Given the description of an element on the screen output the (x, y) to click on. 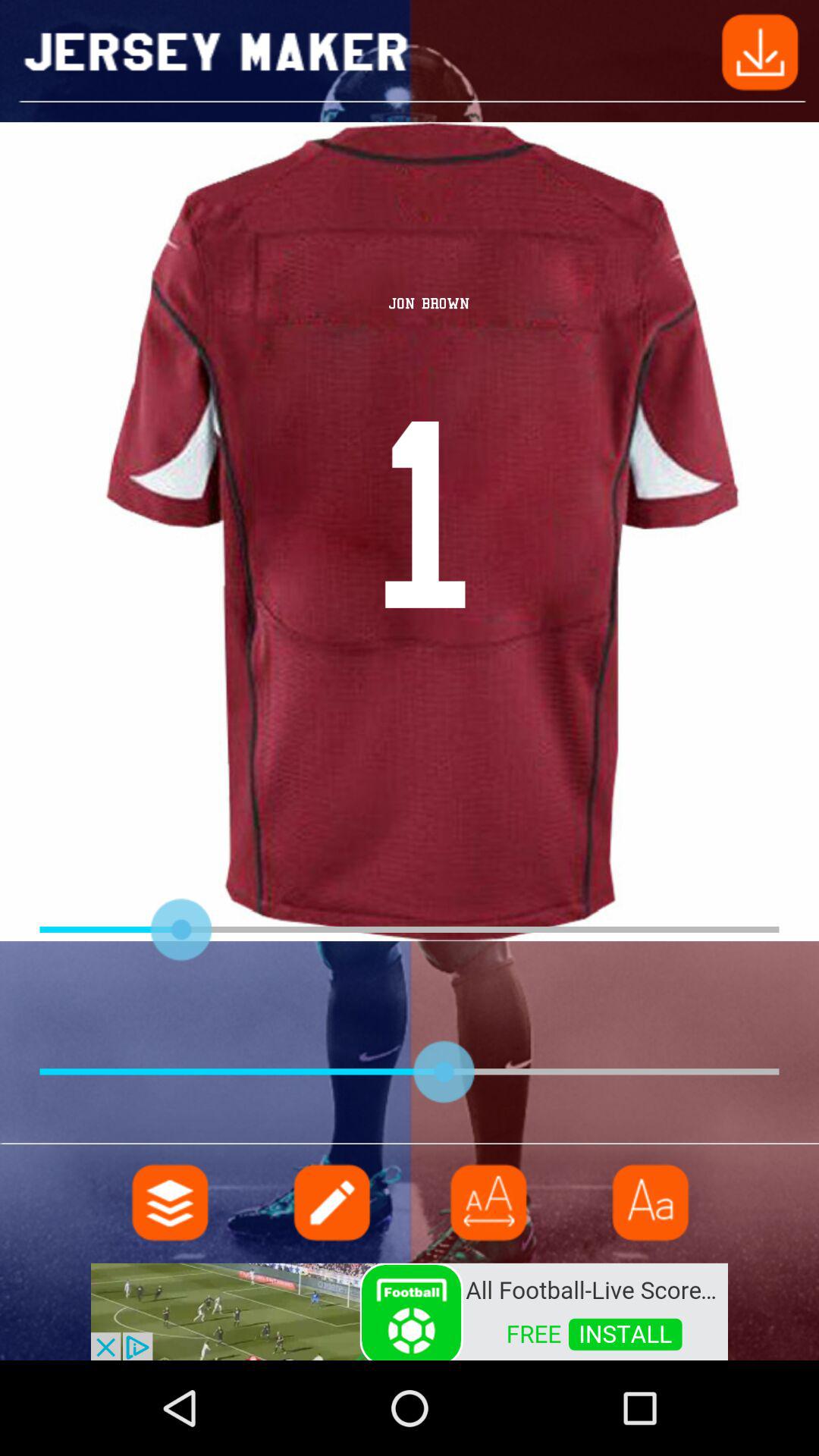
advertisement page (409, 1310)
